Given the description of an element on the screen output the (x, y) to click on. 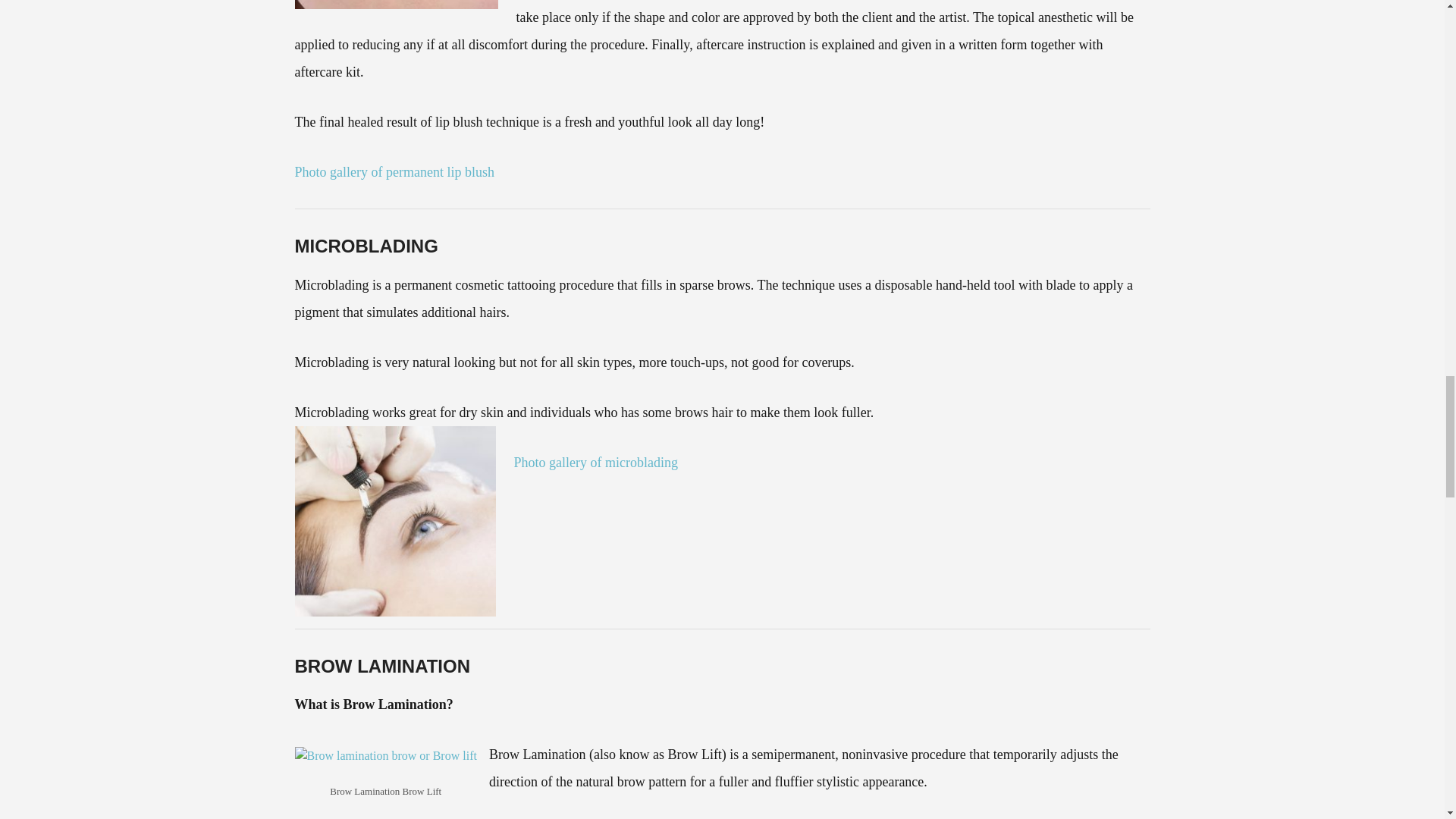
Photo gallery of permanent lip blush (393, 171)
Photo gallery of microblading (595, 462)
